Given the description of an element on the screen output the (x, y) to click on. 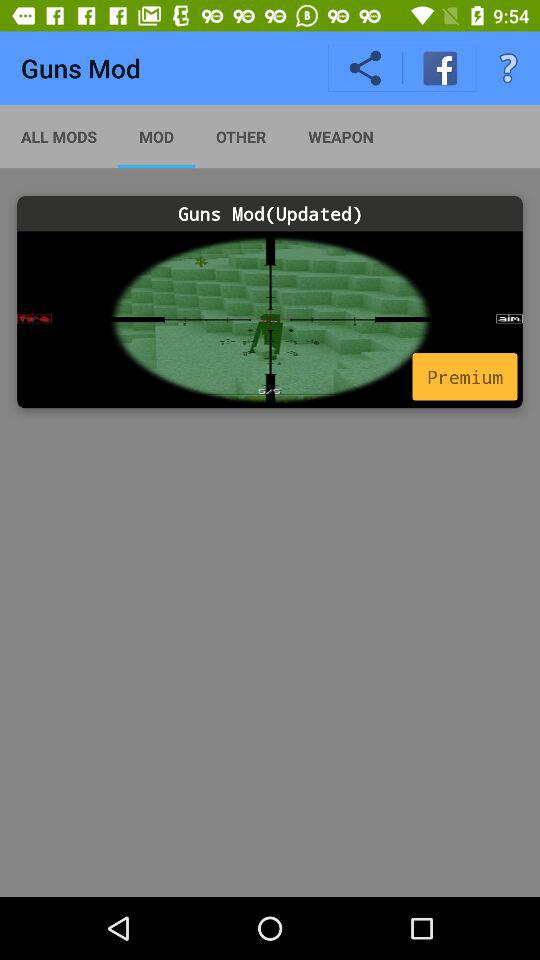
turn on the item above guns mod(updated) icon (59, 136)
